Given the description of an element on the screen output the (x, y) to click on. 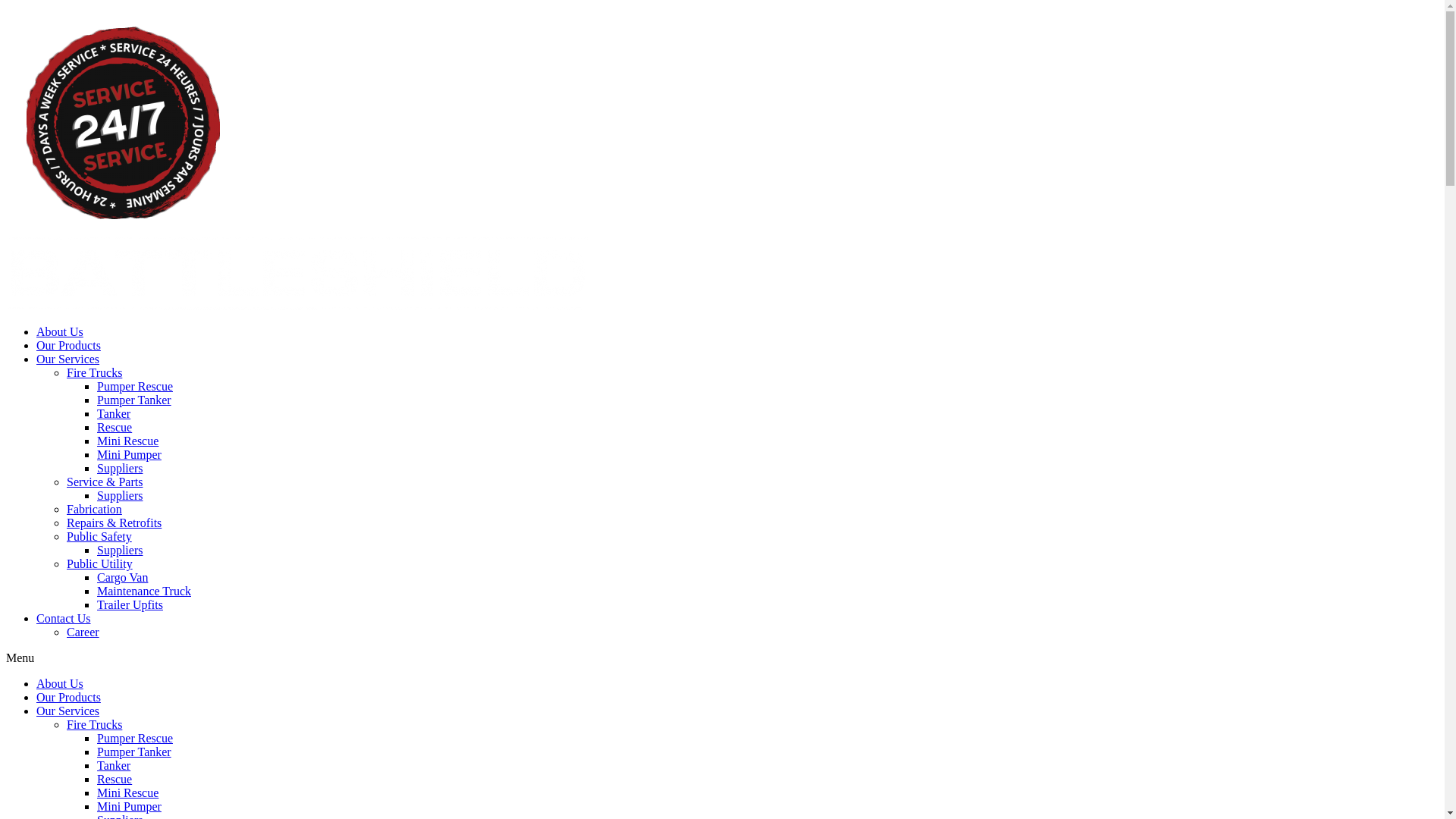
Cargo Van Element type: text (122, 577)
Mini Pumper Element type: text (129, 806)
Public Safety Element type: text (98, 536)
Suppliers Element type: text (119, 549)
Pumper Tanker Element type: text (134, 751)
Our Products Element type: text (68, 344)
Our Products Element type: text (68, 696)
Fabrication Element type: text (94, 508)
Mini Rescue Element type: text (127, 440)
Trailer Upfits Element type: text (130, 604)
Our Services Element type: text (67, 710)
Mini Rescue Element type: text (127, 792)
Repairs & Retrofits Element type: text (113, 522)
Tanker Element type: text (113, 765)
Contact Us Element type: text (63, 617)
Service & Parts Element type: text (104, 481)
Maintenance Truck Element type: text (144, 590)
Fire Trucks Element type: text (94, 724)
Rescue Element type: text (114, 778)
Suppliers Element type: text (119, 495)
Pumper Rescue Element type: text (134, 385)
Career Element type: text (82, 631)
Mini Pumper Element type: text (129, 454)
Public Utility Element type: text (99, 563)
Tanker Element type: text (113, 413)
About Us Element type: text (59, 331)
Skip to content Element type: text (5, 5)
Suppliers Element type: text (119, 467)
Pumper Rescue Element type: text (134, 737)
About Us Element type: text (59, 683)
Rescue Element type: text (114, 426)
Pumper Tanker Element type: text (134, 399)
Fire Trucks Element type: text (94, 372)
Our Services Element type: text (67, 358)
